Given the description of an element on the screen output the (x, y) to click on. 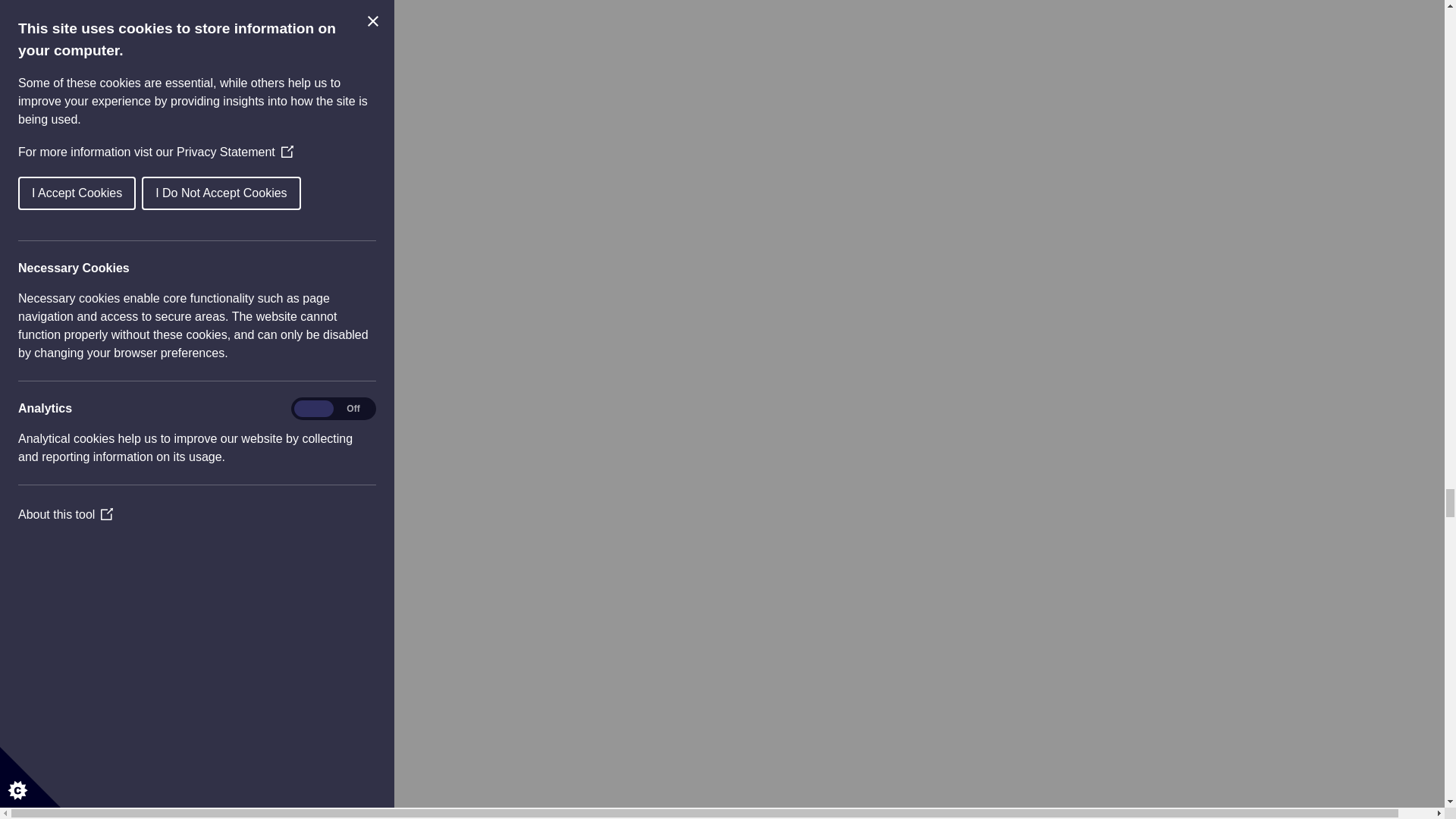
01 (92, 401)
